Given the description of an element on the screen output the (x, y) to click on. 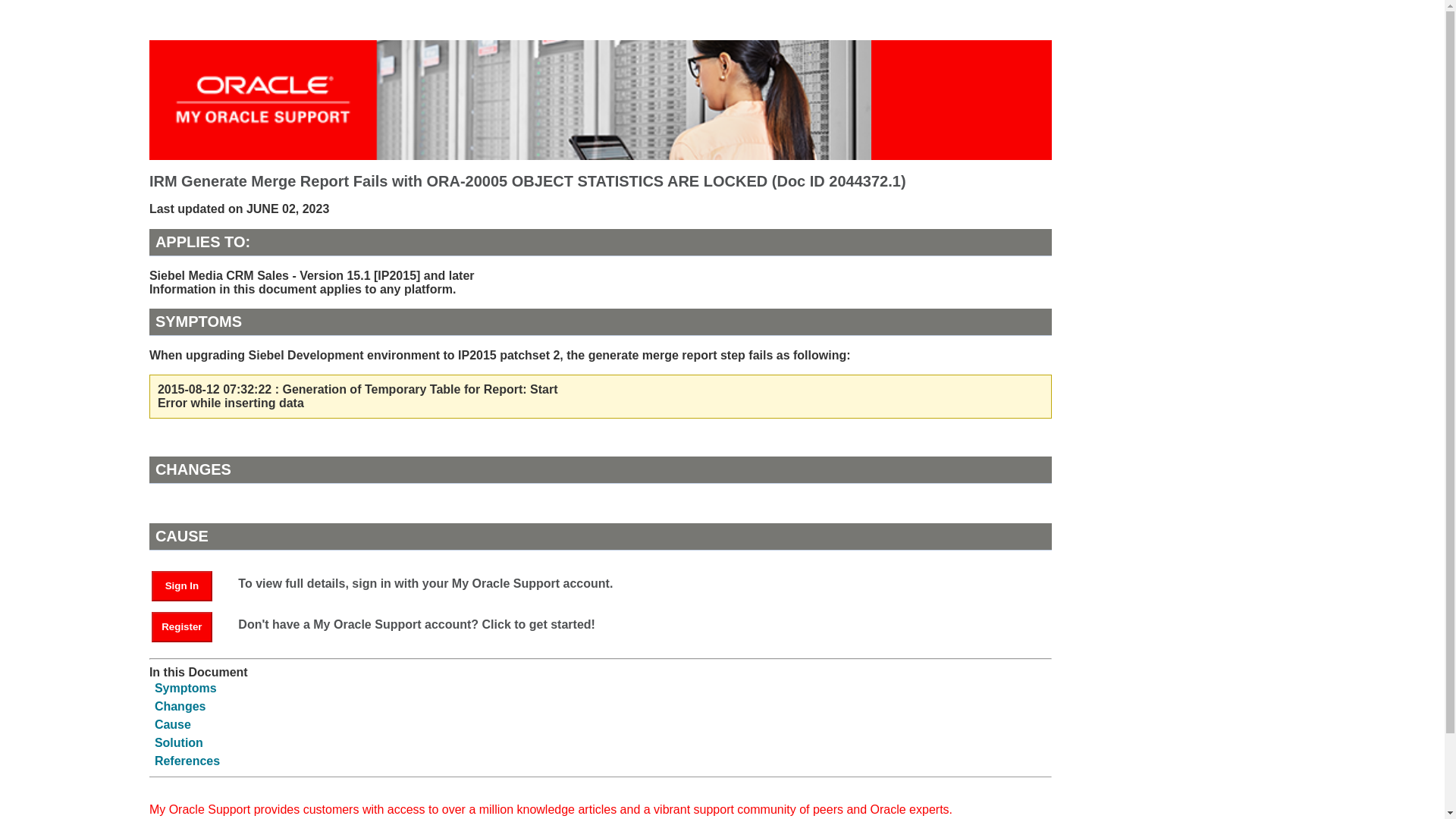
Changes (180, 706)
Cause (172, 724)
Register (181, 626)
Solution (178, 742)
Register (189, 625)
Symptoms (185, 687)
Sign In (189, 584)
Sign In (181, 585)
References (186, 760)
